Given the description of an element on the screen output the (x, y) to click on. 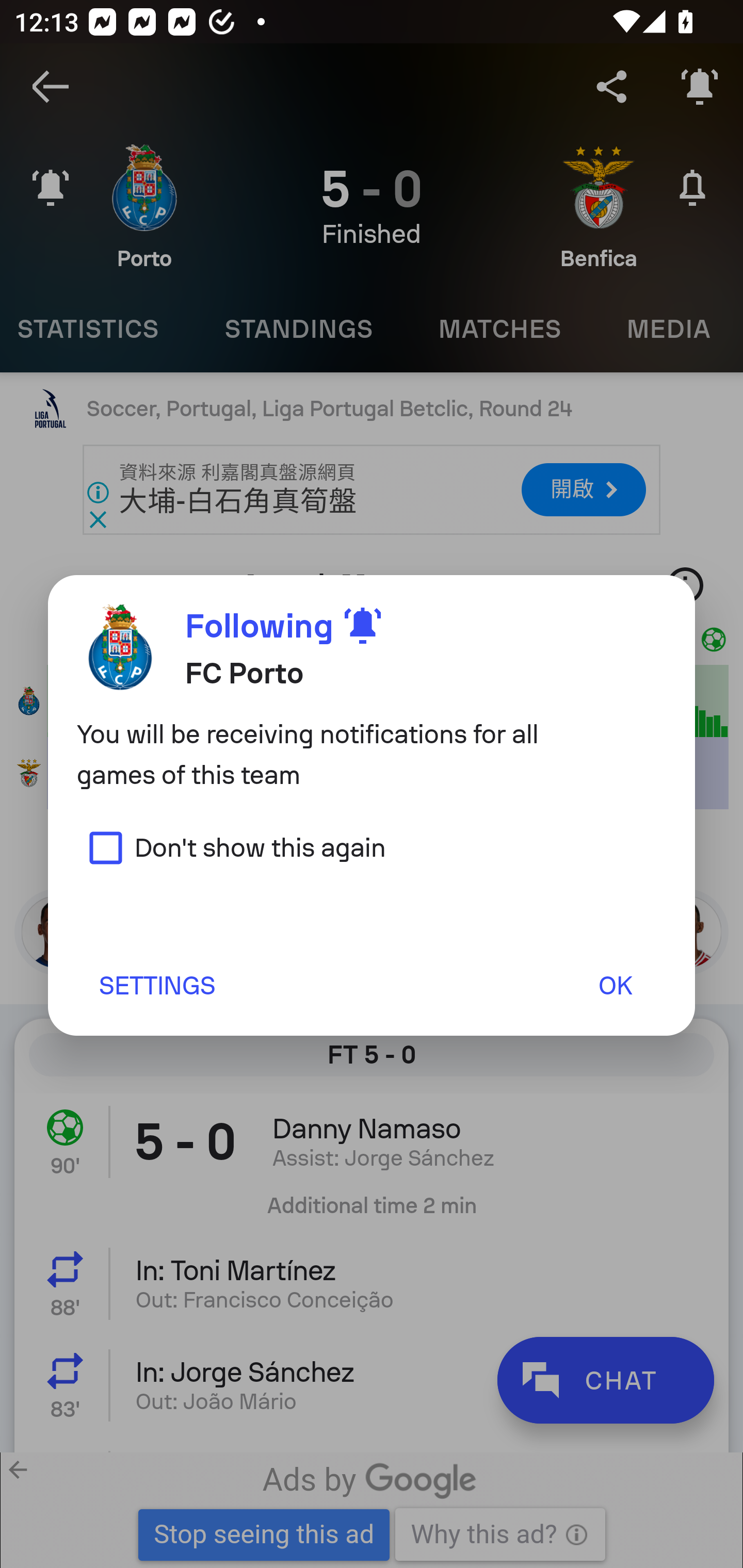
Don't show this again (231, 847)
SETTINGS (156, 985)
OK (615, 985)
